Given the description of an element on the screen output the (x, y) to click on. 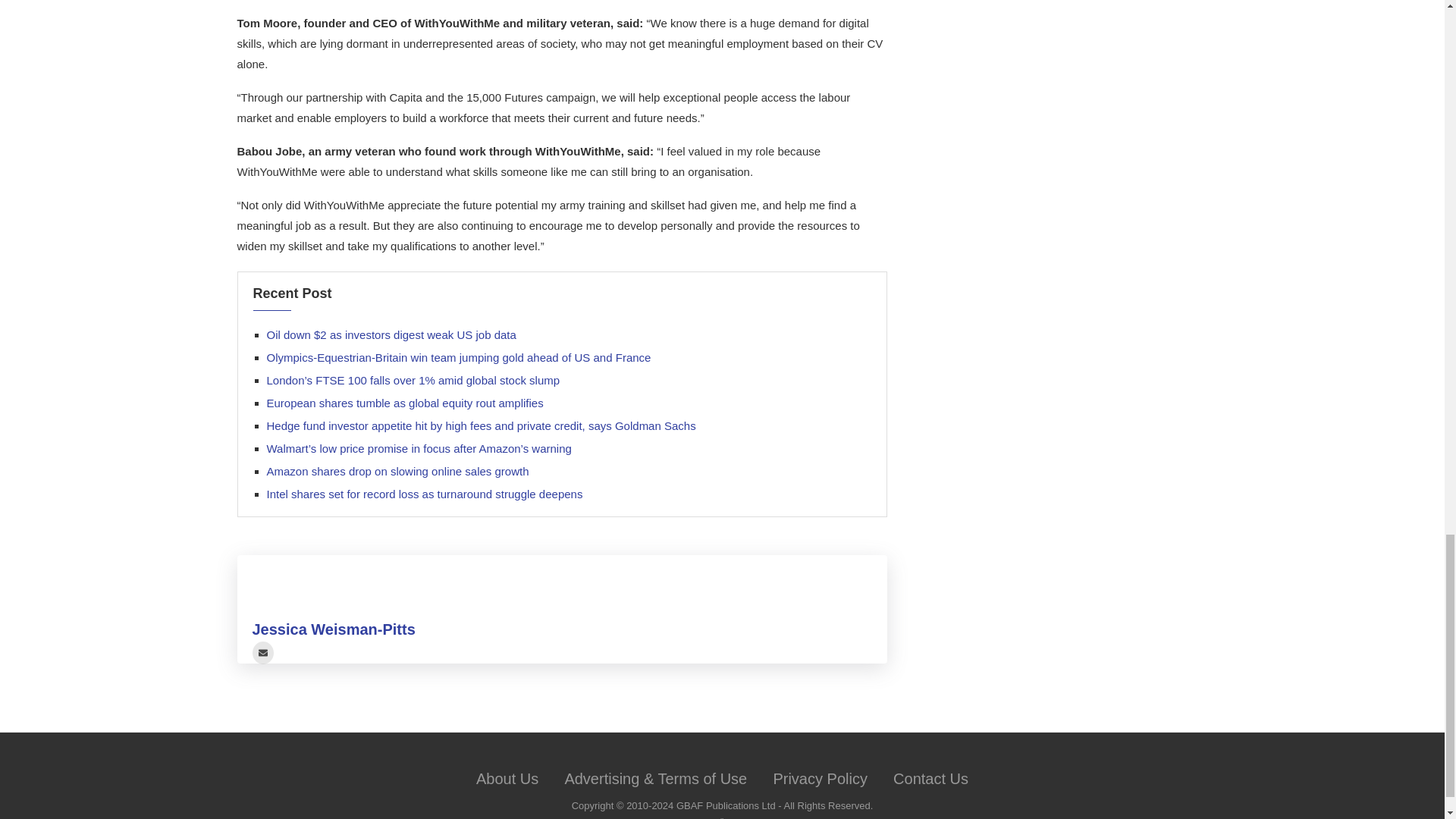
User email (262, 652)
Jessica Weisman-Pitts (332, 629)
Contact Us (930, 778)
Amazon shares drop on slowing online sales growth (397, 471)
About Us (507, 778)
Privacy Policy (819, 778)
European shares tumble as global equity rout amplifies (404, 402)
